Given the description of an element on the screen output the (x, y) to click on. 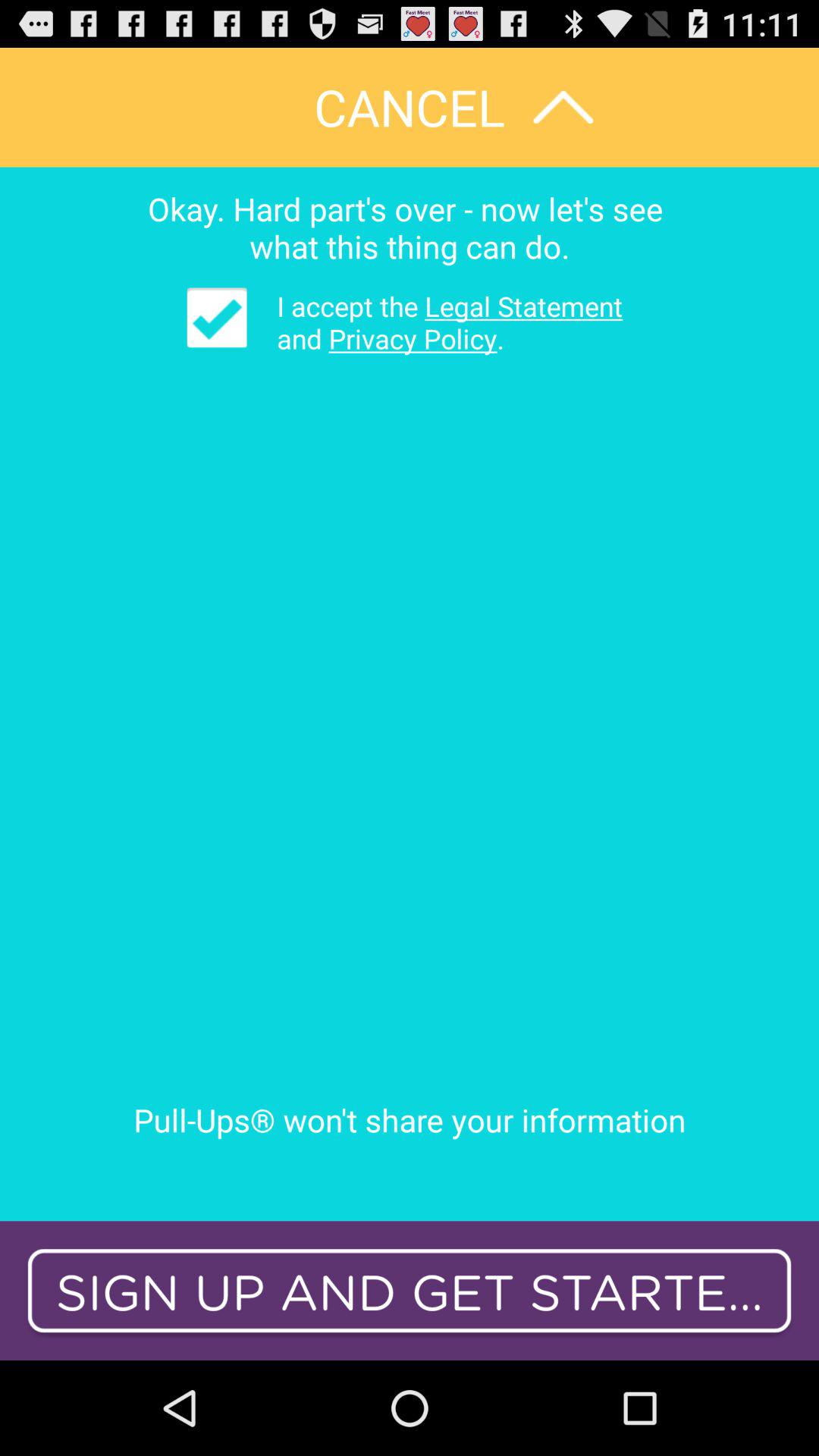
click app above okay hard part icon (409, 107)
